Given the description of an element on the screen output the (x, y) to click on. 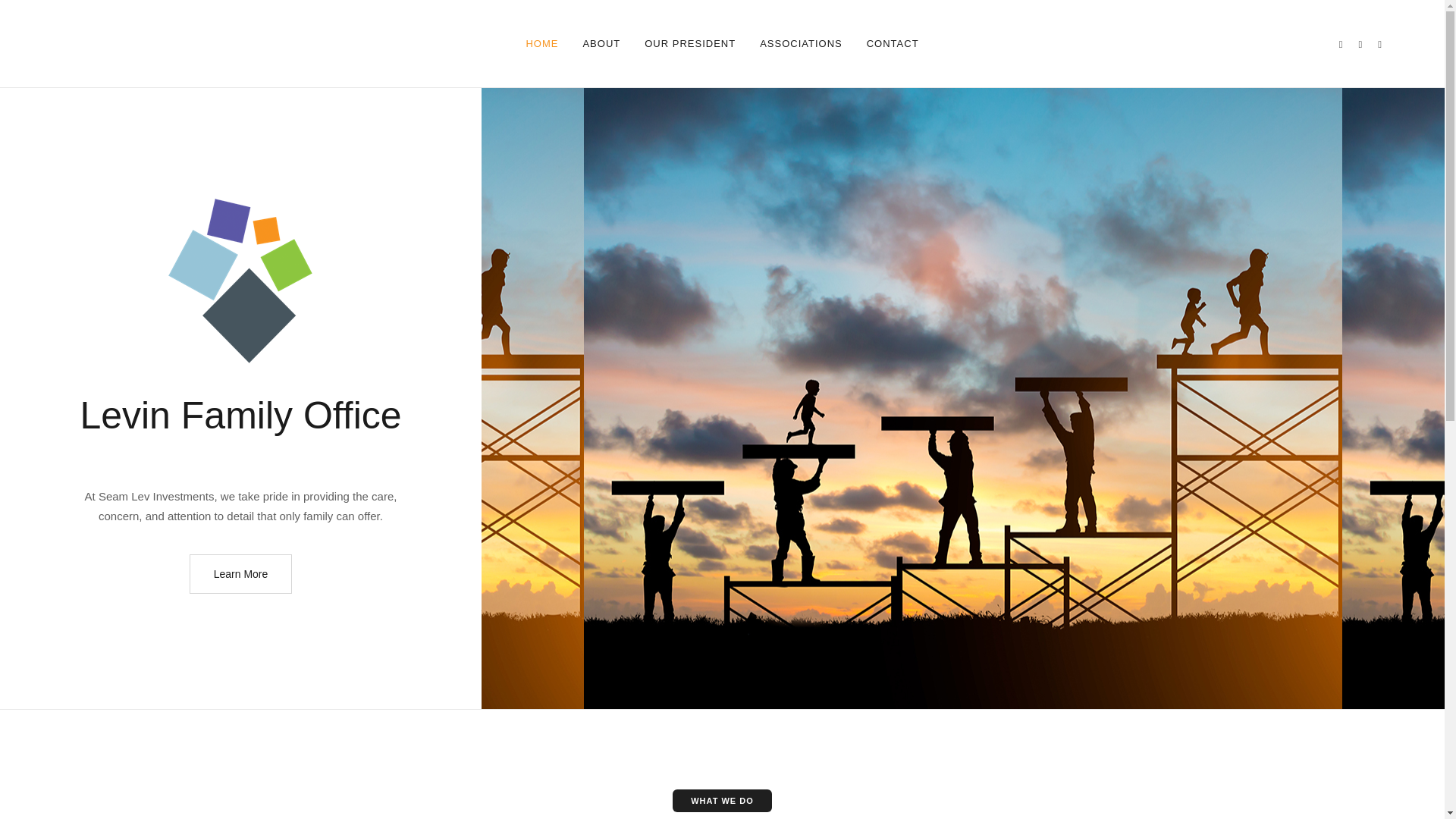
OUR PRESIDENT (689, 43)
ASSOCIATIONS (801, 43)
Learn More (240, 573)
